Given the description of an element on the screen output the (x, y) to click on. 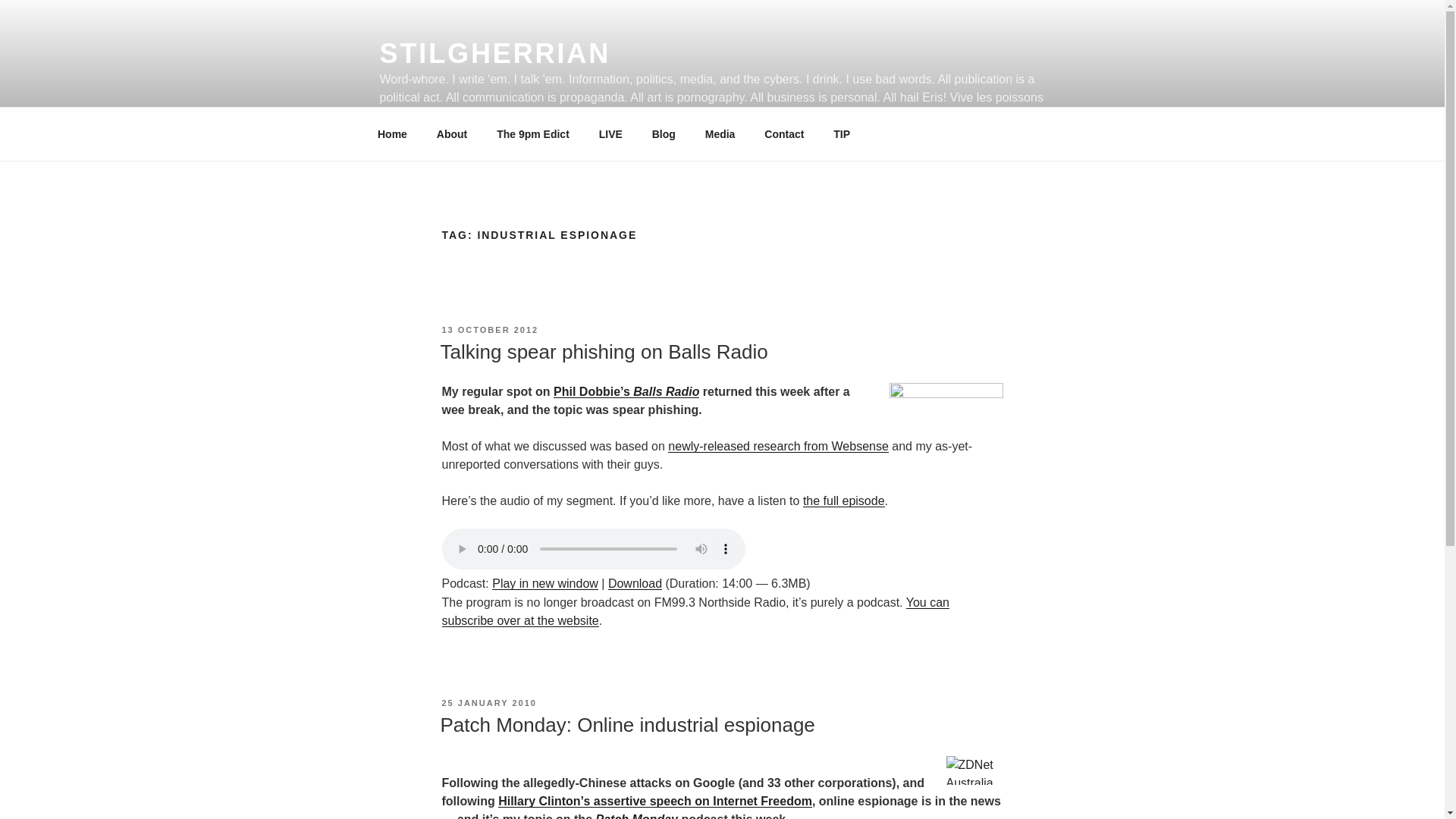
About Stilgherrian (451, 133)
Blog (663, 133)
Download (635, 583)
Play in new window (545, 583)
About (451, 133)
STILGHERRIAN (494, 52)
Media Output (719, 133)
Patch Monday: Online industrial espionage (626, 724)
Contact (783, 133)
13 OCTOBER 2012 (489, 329)
